Given the description of an element on the screen output the (x, y) to click on. 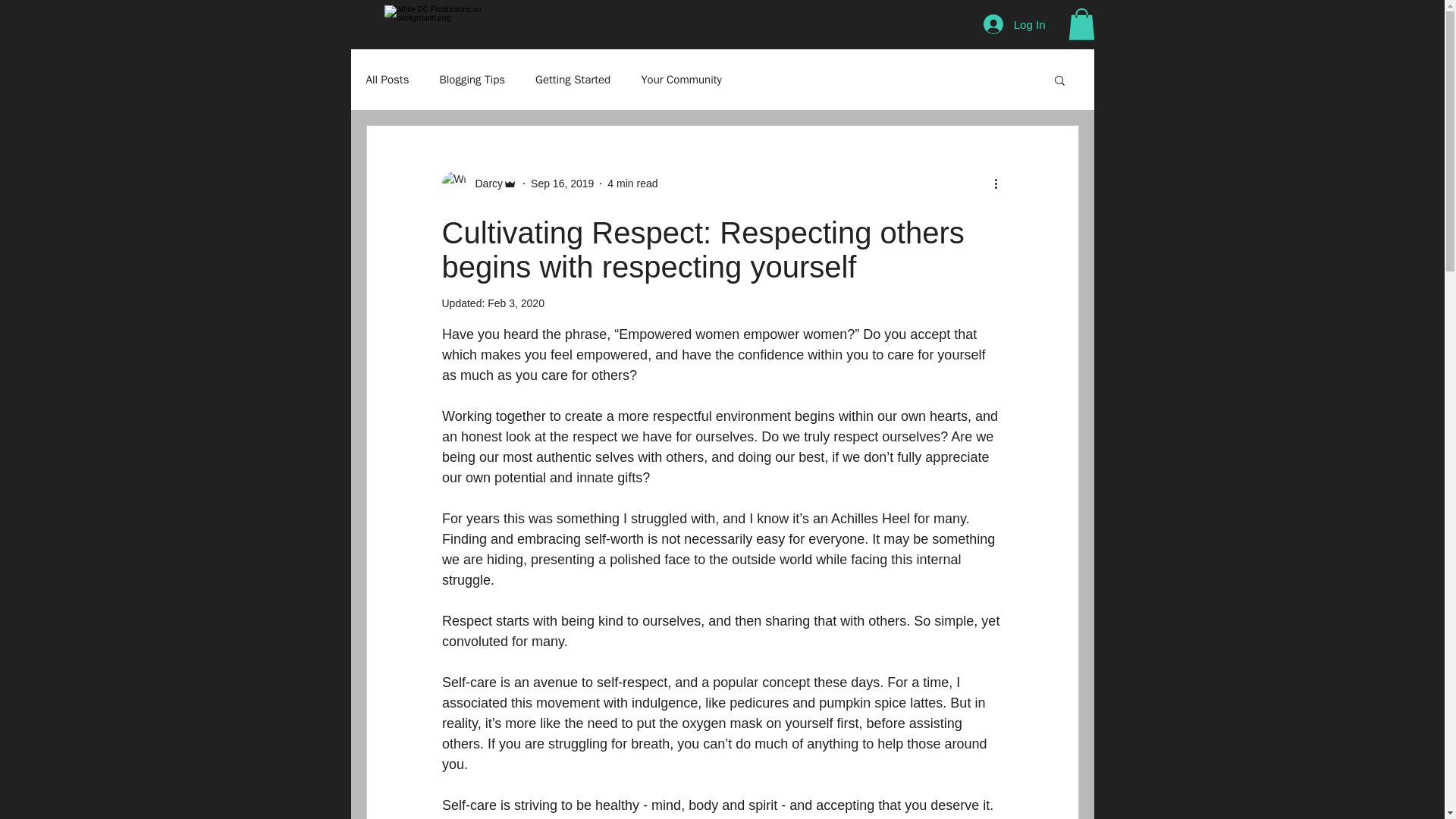
Blogging Tips (472, 79)
Feb 3, 2020 (515, 303)
All Posts (387, 79)
Your Community (681, 79)
Log In (1014, 23)
Darcy (483, 183)
Darcy (478, 183)
Sep 16, 2019 (562, 183)
4 min read (632, 183)
Getting Started (572, 79)
